Given the description of an element on the screen output the (x, y) to click on. 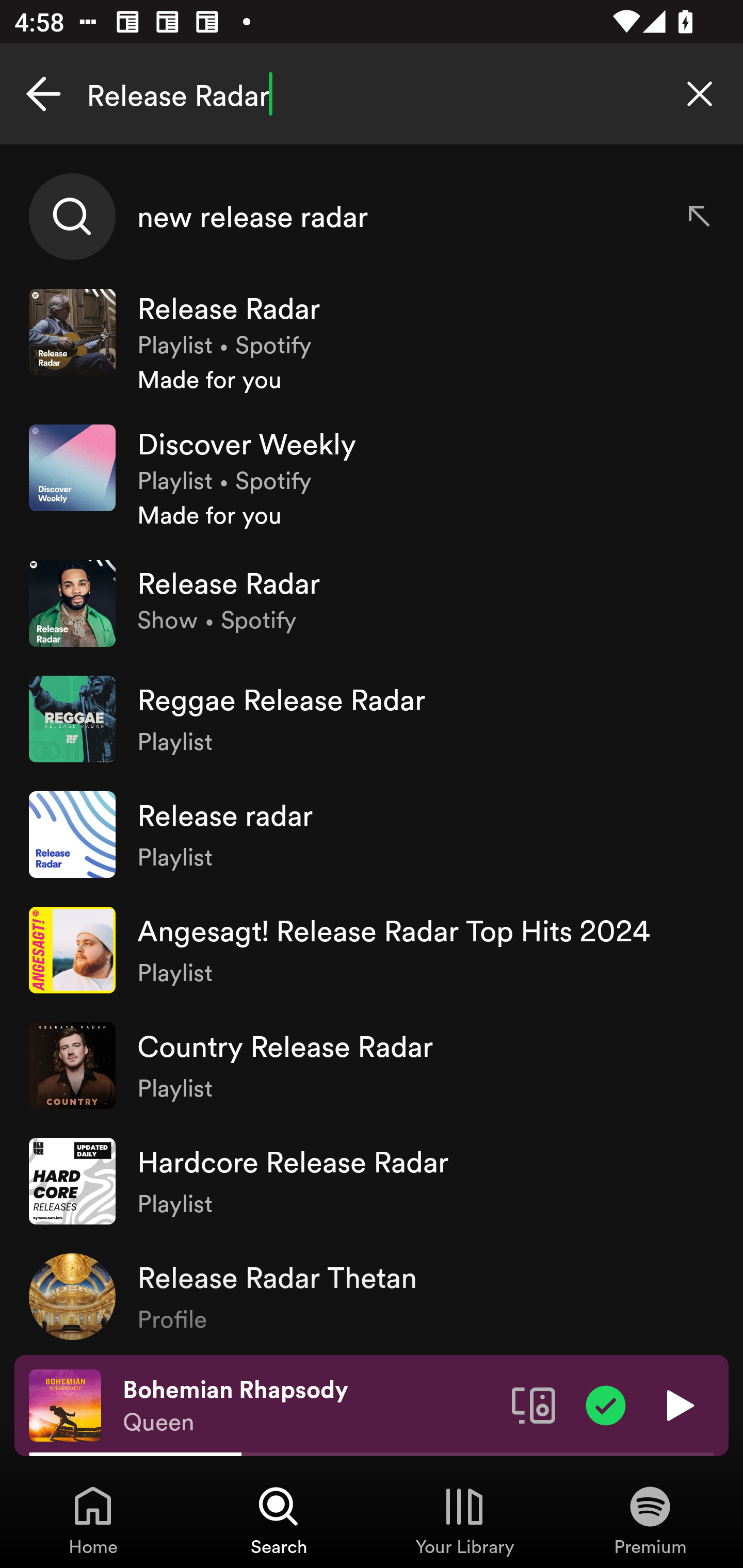
Release Radar (371, 93)
Cancel (43, 93)
Clear search query (699, 93)
new release radar (371, 216)
Release Radar Playlist • Spotify Made for you (371, 342)
Discover Weekly Playlist • Spotify Made for you (371, 477)
Release Radar Show • Spotify  (371, 603)
Reggae Release Radar Playlist (371, 718)
Release radar  Playlist (371, 834)
Angesagt! Release Radar Top Hits 2024 Playlist (371, 950)
Country Release Radar Playlist (371, 1065)
Hardcore Release Radar Playlist (371, 1180)
Release Radar Thetan Profile (371, 1296)
Bohemian Rhapsody Queen (309, 1405)
The cover art of the currently playing track (64, 1404)
Connect to a device. Opens the devices menu (533, 1404)
Item added (605, 1404)
Play (677, 1404)
Home, Tab 1 of 4 Home Home (92, 1519)
Search, Tab 2 of 4 Search Search (278, 1519)
Your Library, Tab 3 of 4 Your Library Your Library (464, 1519)
Premium, Tab 4 of 4 Premium Premium (650, 1519)
